Given the description of an element on the screen output the (x, y) to click on. 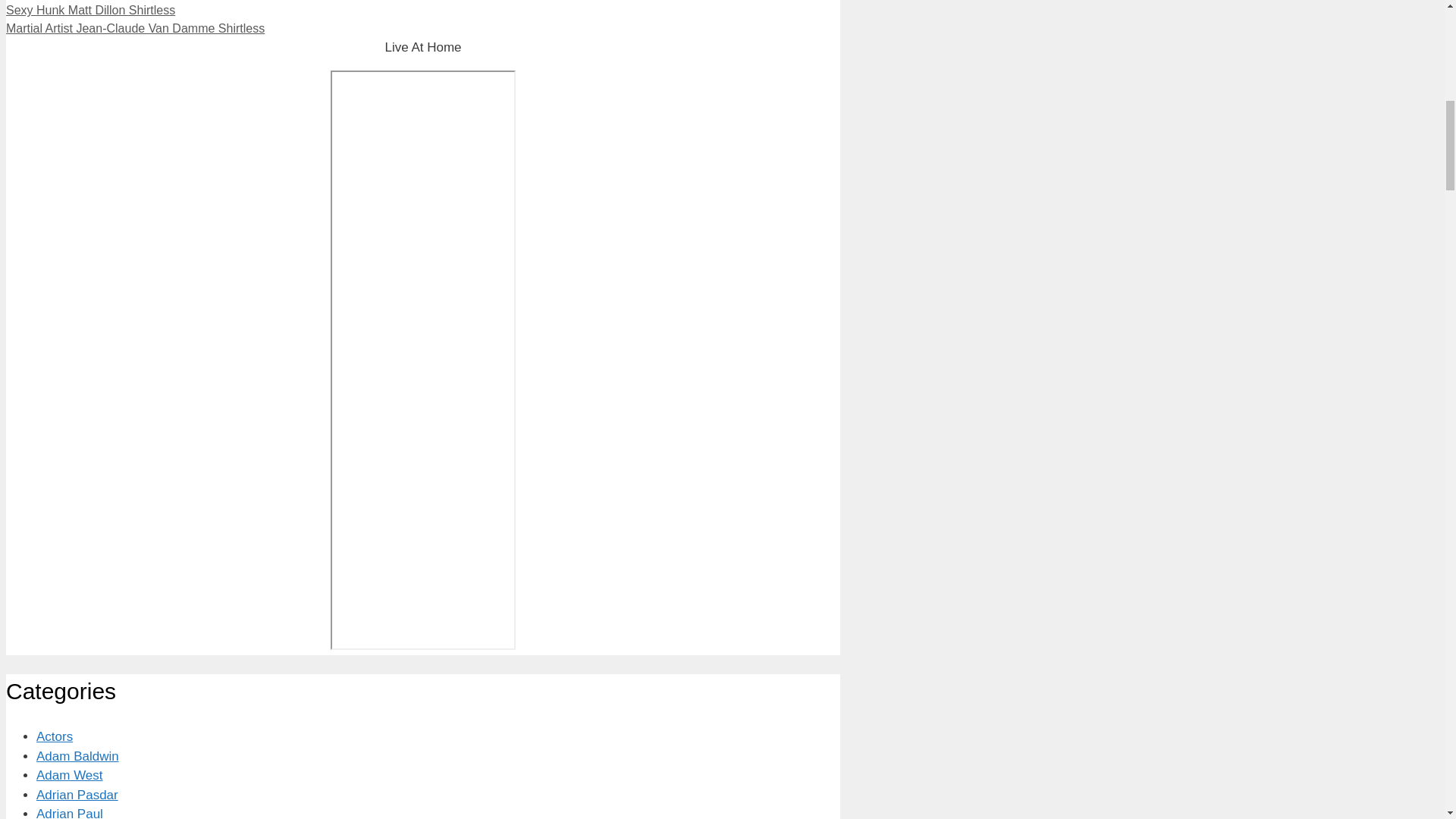
Adrian Pasdar (76, 794)
Next (134, 28)
Previous (89, 10)
Adam West (69, 775)
Sexy Hunk Matt Dillon Shirtless (89, 10)
Martial Artist Jean-Claude Van Damme Shirtless (134, 28)
Adam Baldwin (77, 756)
Actors (54, 736)
Adrian Paul (69, 812)
